Given the description of an element on the screen output the (x, y) to click on. 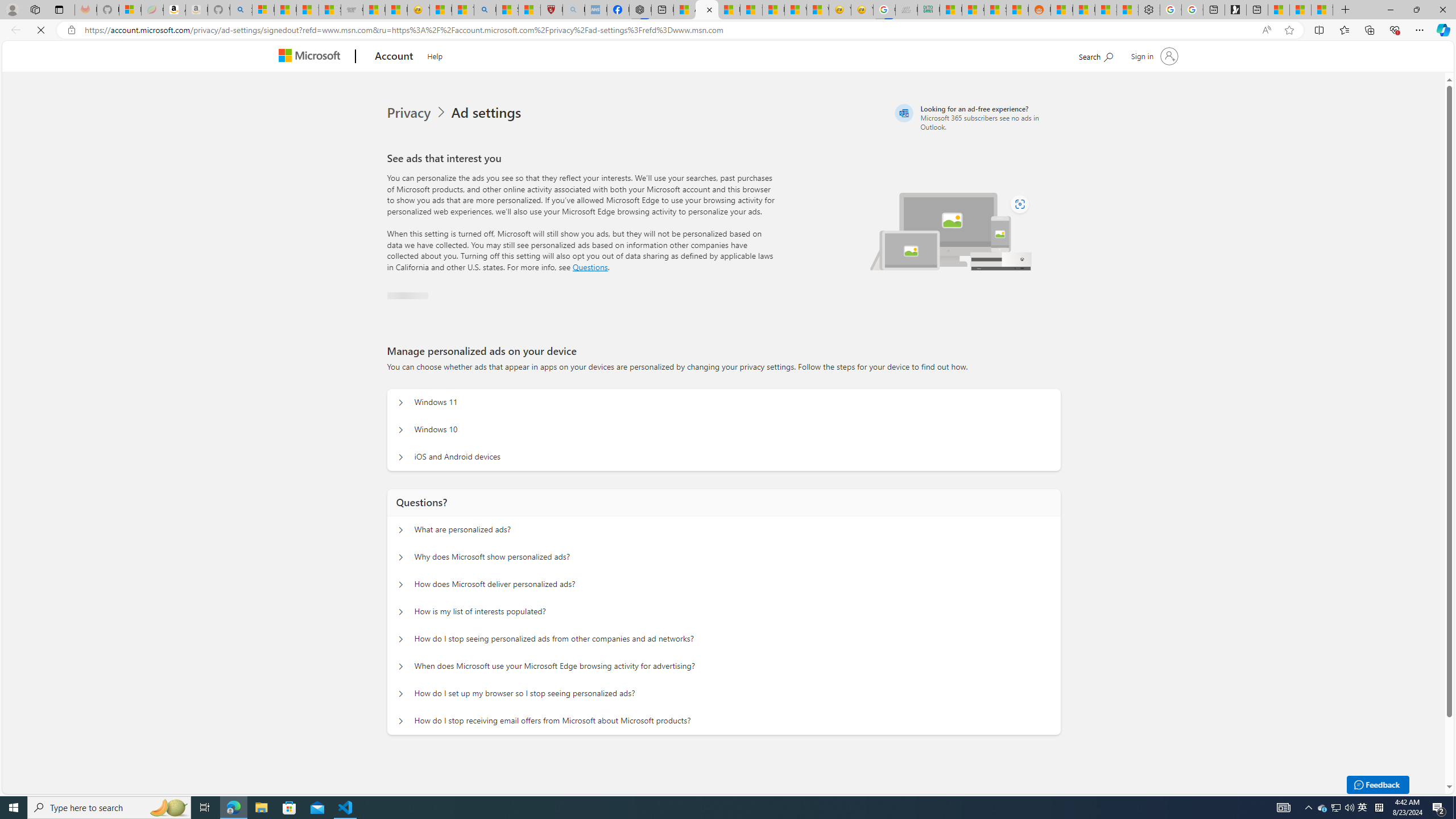
Recipes - MSN (441, 9)
Manage personalized ads on your device Windows 10 (401, 429)
